Given the description of an element on the screen output the (x, y) to click on. 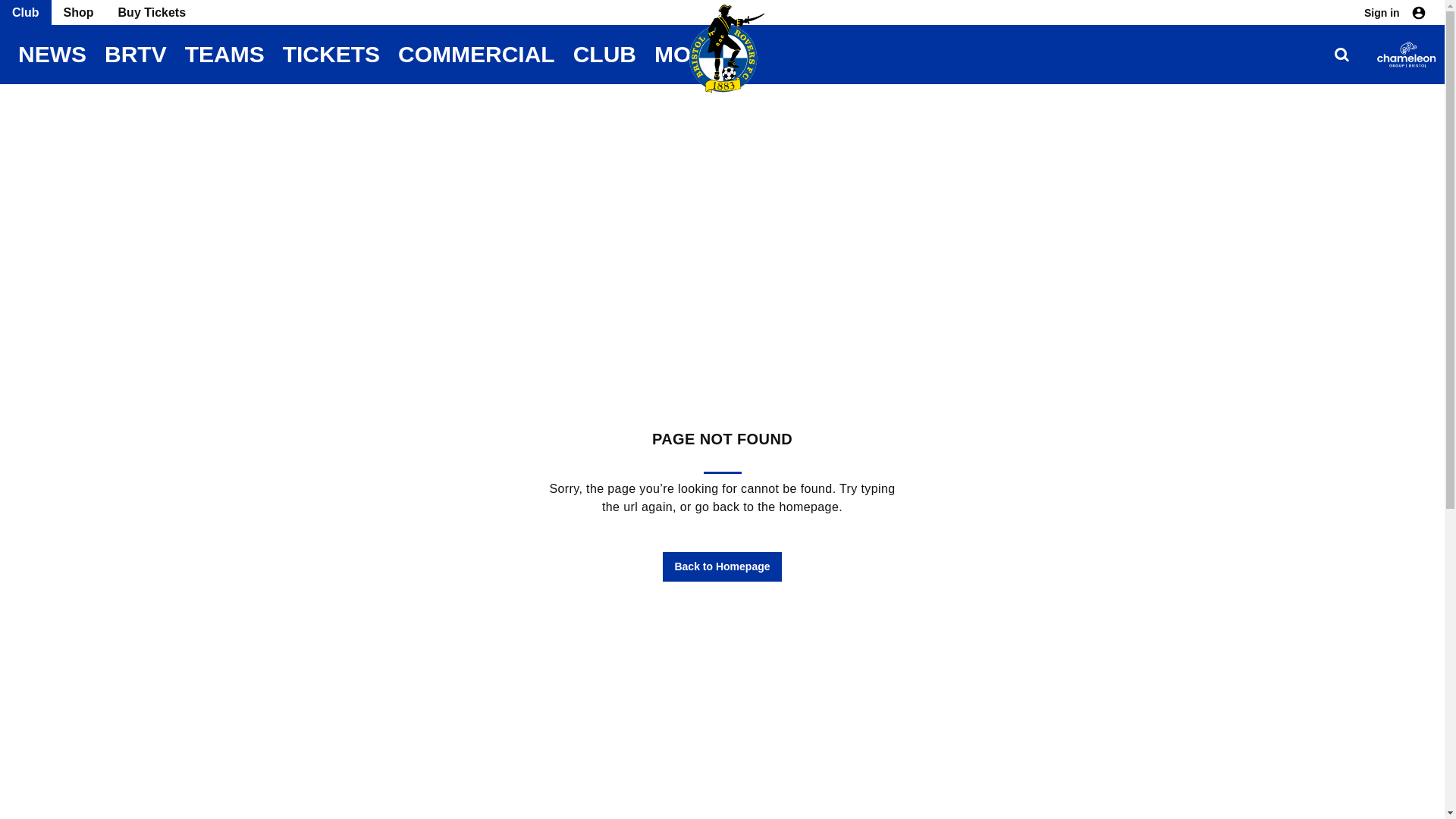
Buy Tickets (152, 12)
Club (25, 12)
Sign in (1394, 12)
TEAMS (224, 54)
TICKETS (331, 54)
BRTV (135, 54)
NEWS (51, 54)
Shop (78, 12)
Chameleon Group (1406, 54)
